Given the description of an element on the screen output the (x, y) to click on. 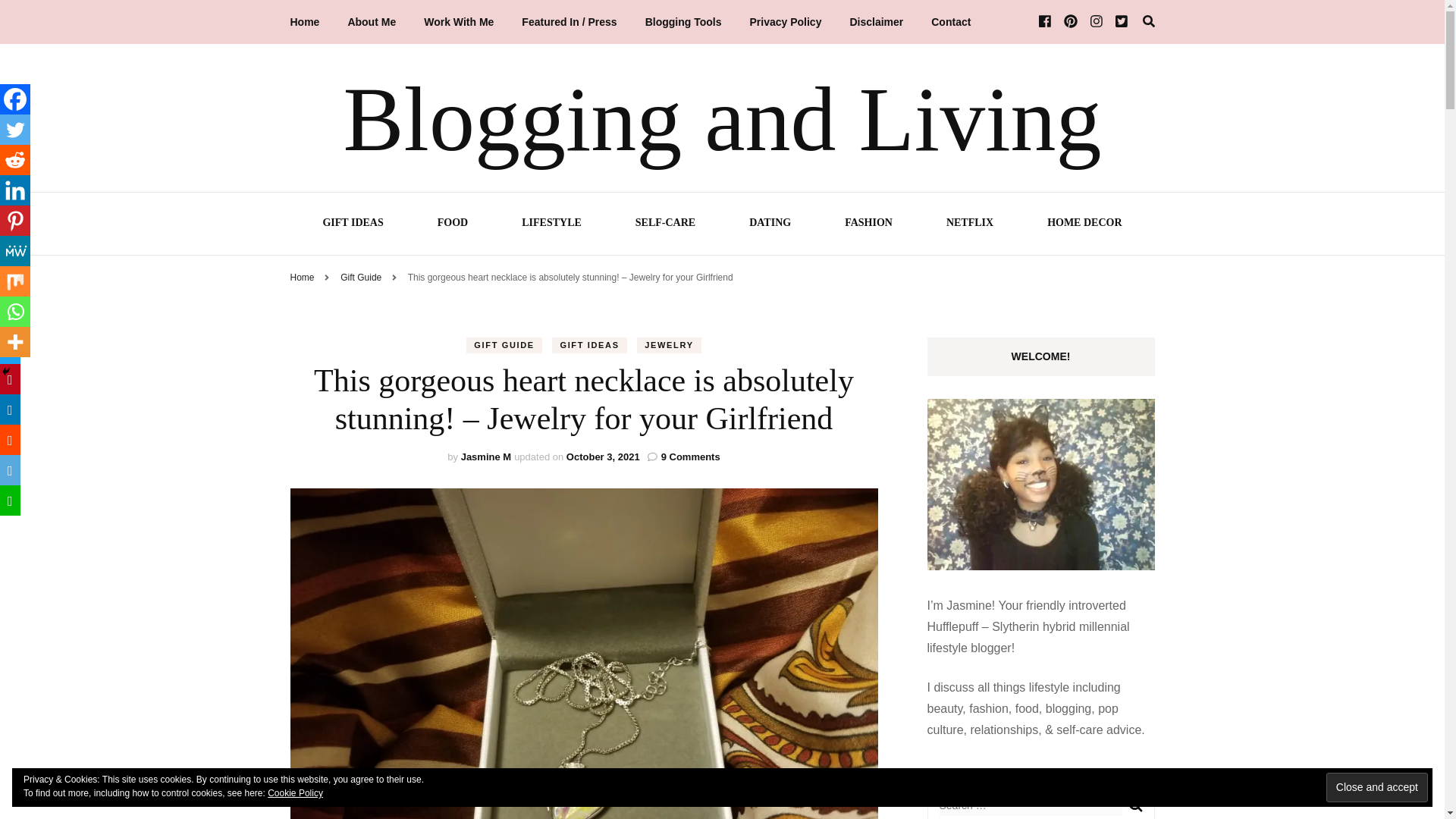
NETFLIX (969, 224)
October 3, 2021 (603, 456)
Contact (951, 21)
Reddit (15, 159)
FOOD (452, 224)
Disclaimer (875, 21)
About Me (371, 21)
Home (301, 276)
GIFT IDEAS (588, 344)
SELF-CARE (664, 224)
HOME DECOR (1083, 224)
Facebook (15, 99)
GIFT IDEAS (351, 224)
JEWELRY (668, 344)
FASHION (868, 224)
